Given the description of an element on the screen output the (x, y) to click on. 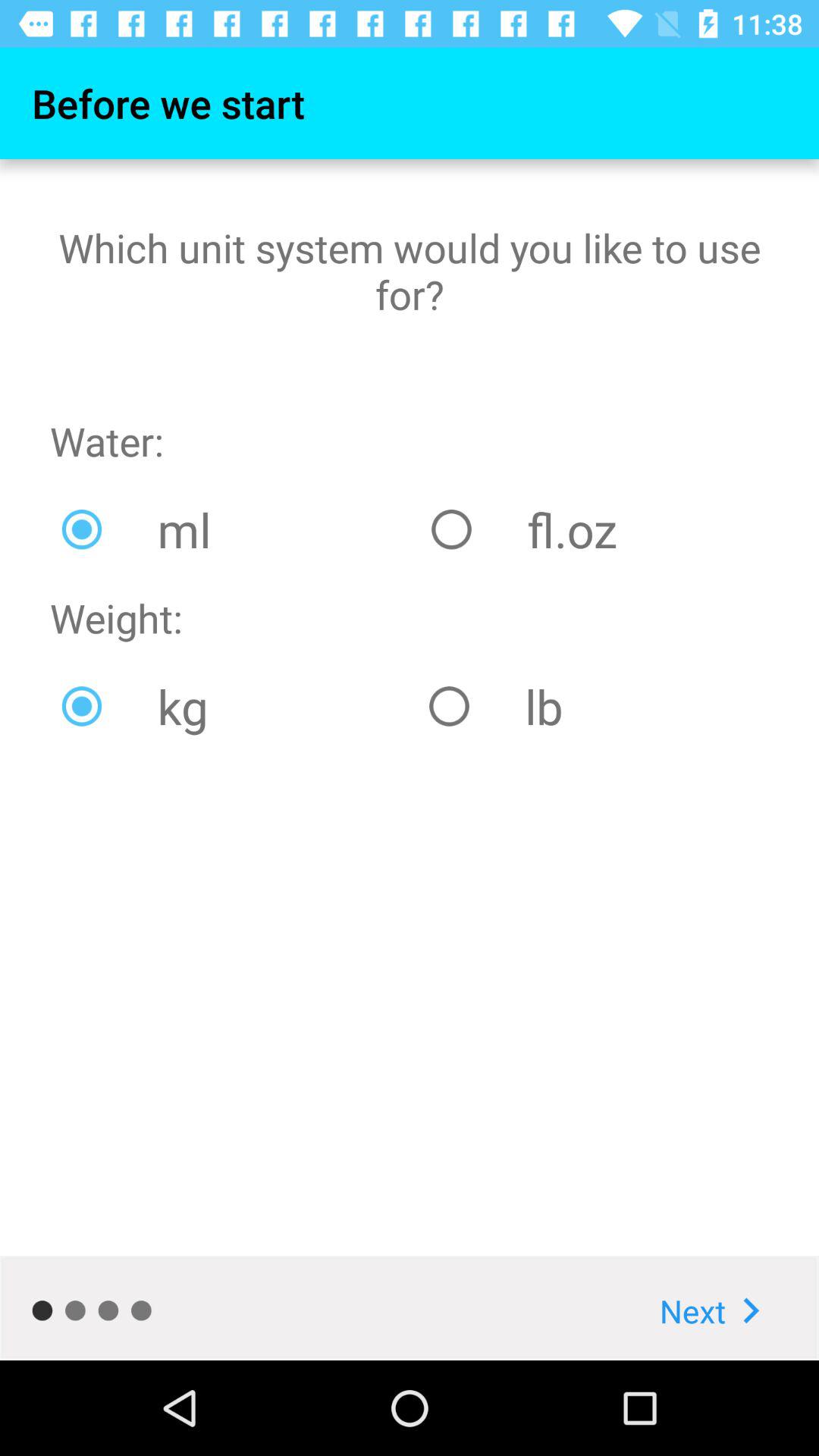
tap the icon to the right of ml icon (593, 529)
